Given the description of an element on the screen output the (x, y) to click on. 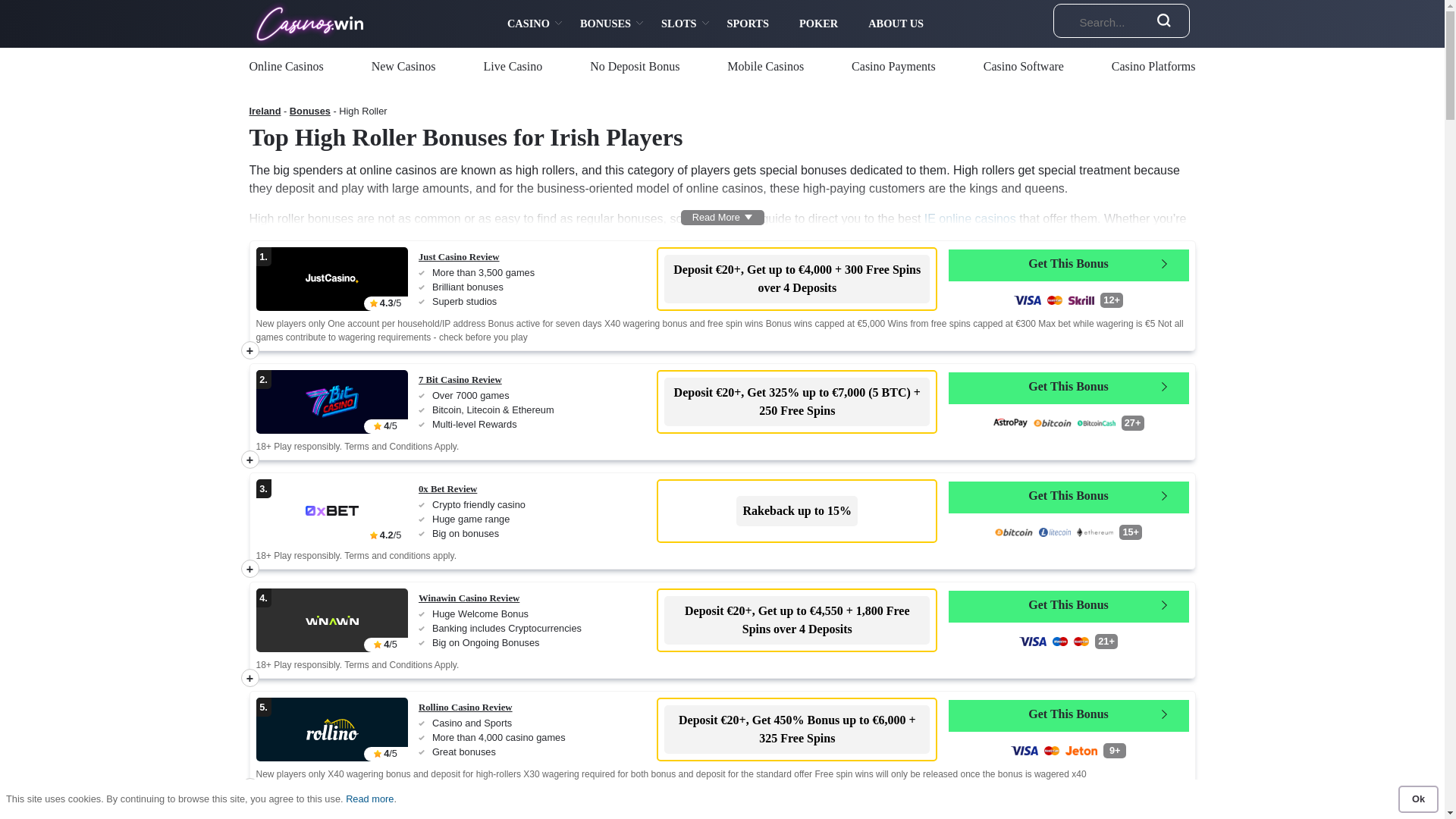
CASINO (528, 23)
